Given the description of an element on the screen output the (x, y) to click on. 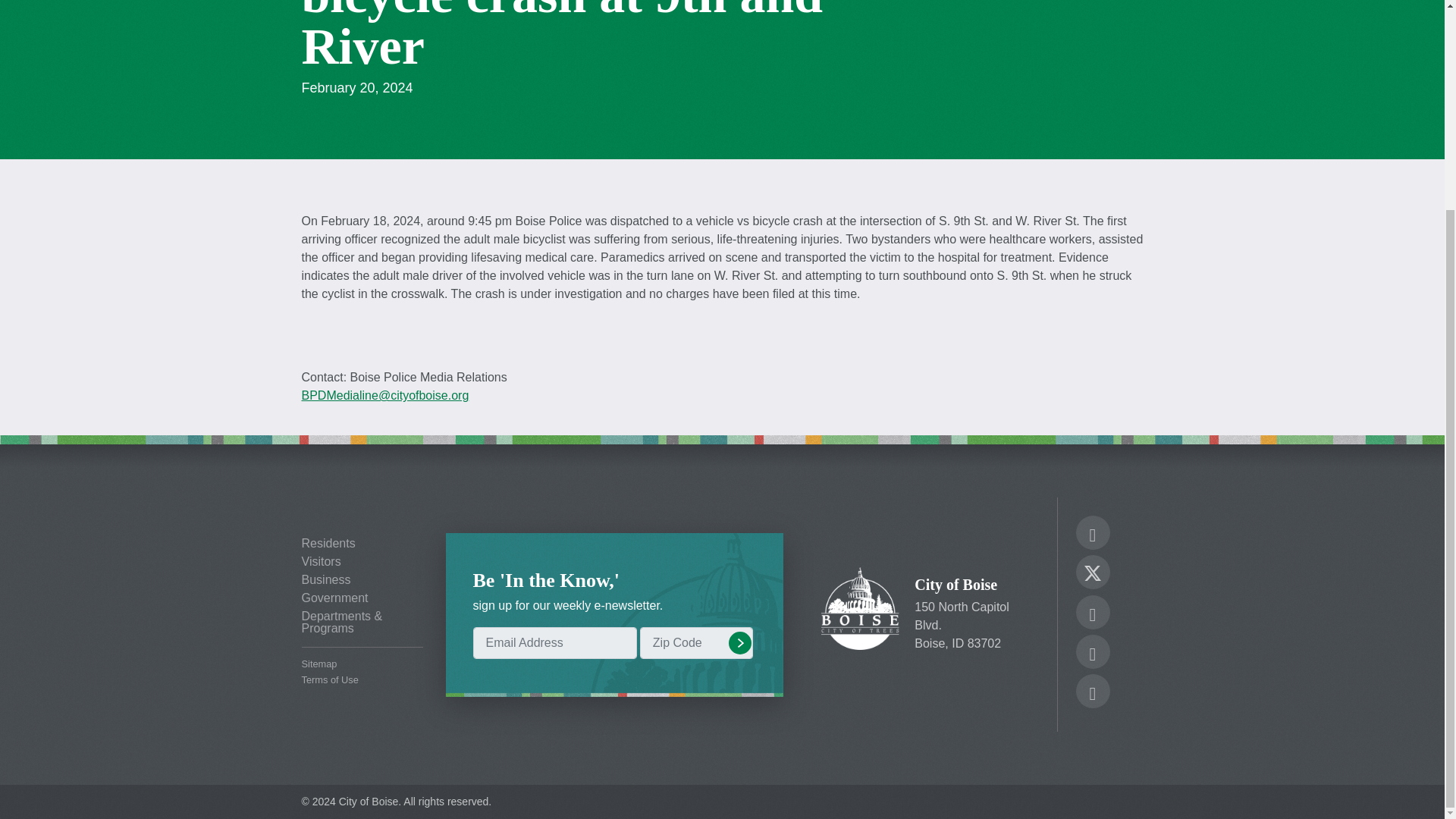
Sitemap (362, 664)
YouTube (1092, 653)
Facebook (1092, 534)
Government (362, 598)
Submit (739, 642)
Business (362, 580)
Visitors (362, 562)
Twitter (1092, 571)
LinkedIn (1092, 693)
Terms of Use (362, 680)
Residents (362, 543)
Instagram (1092, 614)
